Given the description of an element on the screen output the (x, y) to click on. 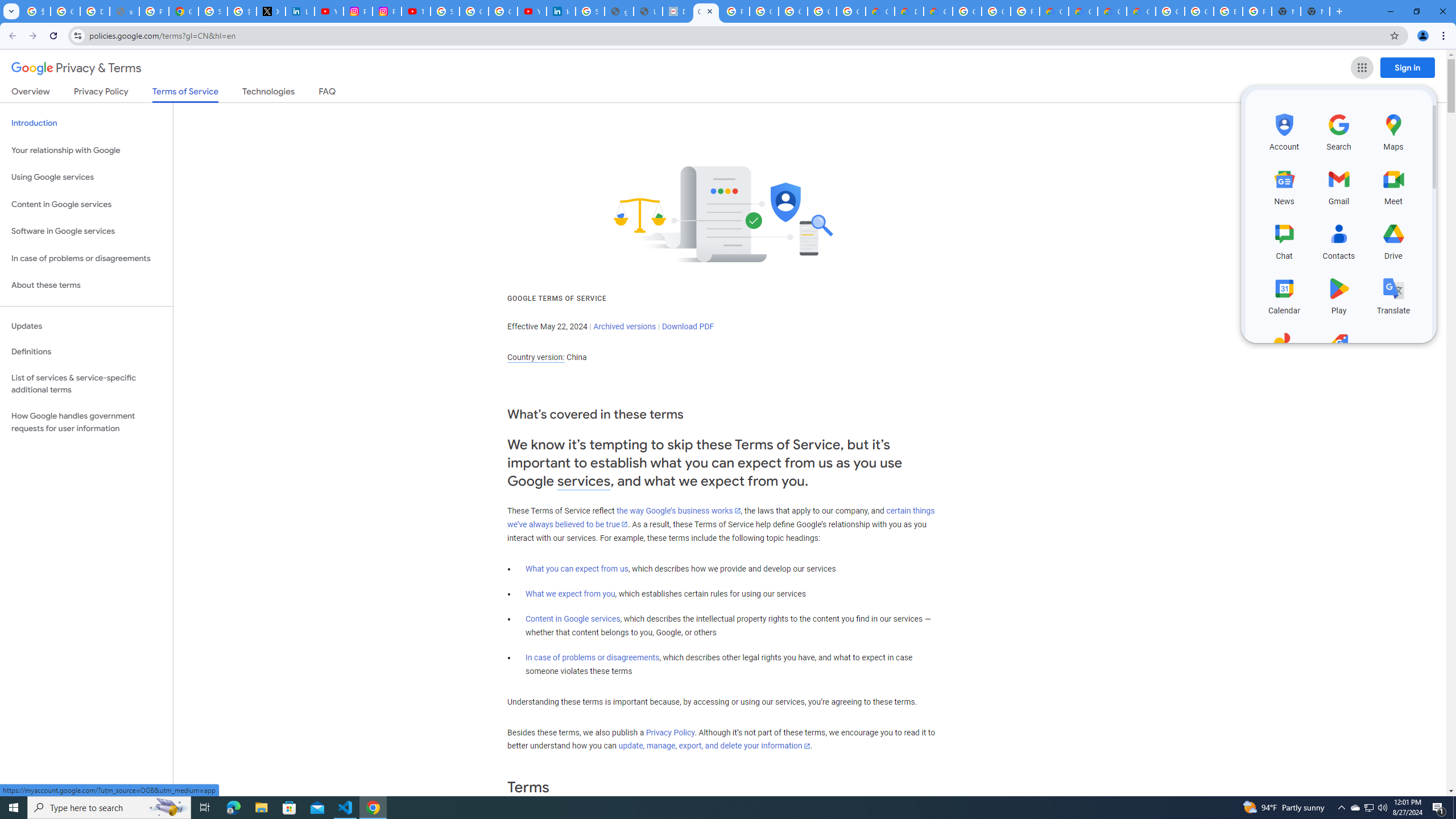
Restore (1416, 11)
Country version: (535, 357)
Sign in - Google Accounts (590, 11)
Gemini for Business and Developers | Google Cloud (938, 11)
Privacy Help Center - Policies Help (153, 11)
google_privacy_policy_en.pdf (619, 11)
Software in Google services (86, 230)
View site information (77, 35)
Your relationship with Google (86, 150)
